Given the description of an element on the screen output the (x, y) to click on. 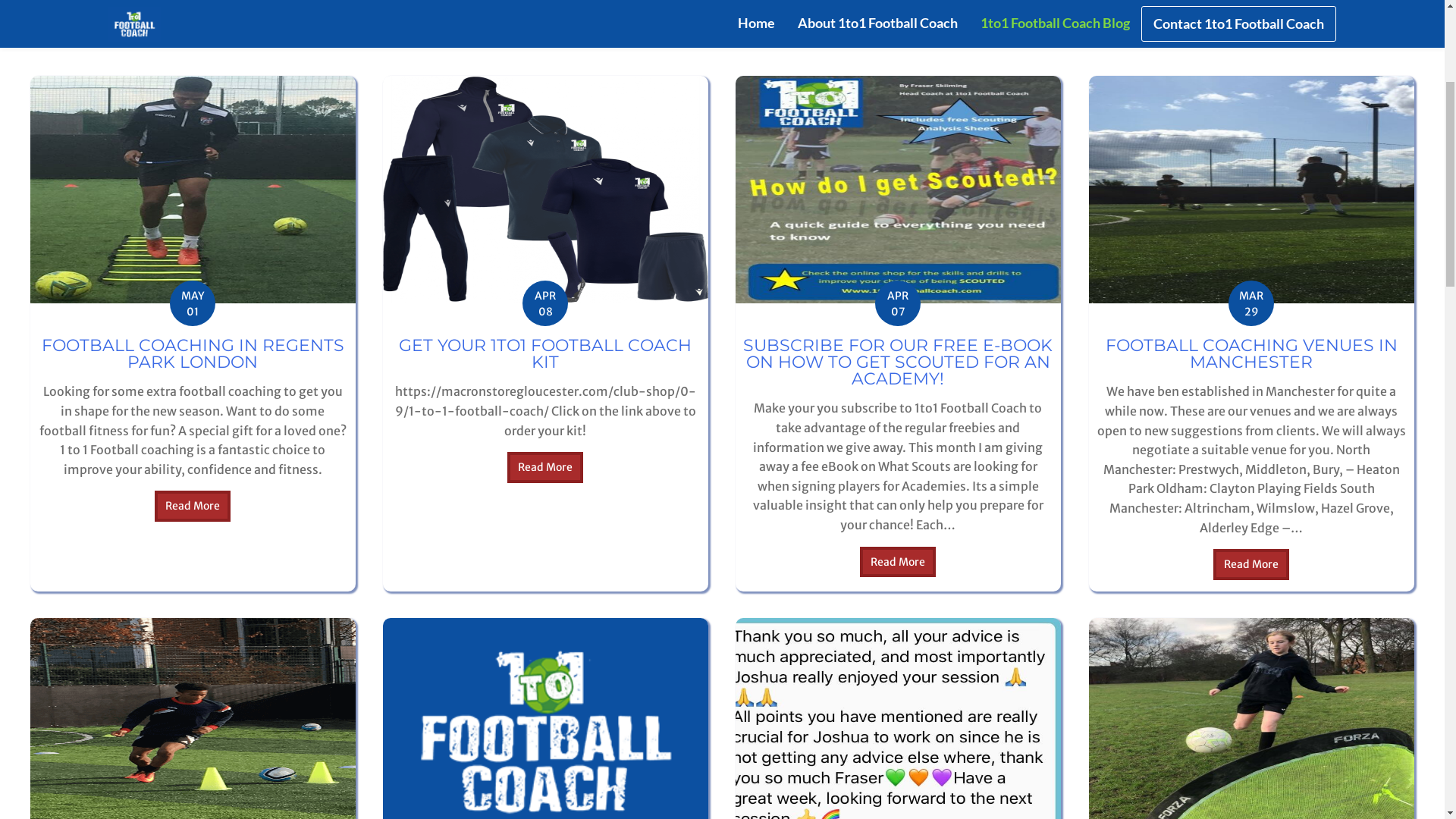
About 1to1 Football Coach Element type: text (877, 306)
FOOTBALL COACHING IN REGENTS PARK LONDON Element type: text (192, 636)
Home Element type: text (756, 85)
new kit Element type: hover (545, 472)
Home Element type: text (756, 306)
1to1 Football Coach Blog Element type: text (1055, 85)
sam Element type: hover (192, 472)
07789 958 769 Element type: text (859, 12)
scouted Element type: hover (897, 472)
Read More Element type: text (545, 750)
About 1to1 Football Coach Element type: text (877, 85)
GET YOUR 1TO1 FOOTBALL COACH KIT Element type: text (544, 636)
Contact 1to1 Football Coach Element type: text (1238, 307)
FOOTBALL COACHING VENUES IN MANCHESTER Element type: text (1251, 636)
me Element type: hover (1251, 472)
Contact 1to1 Football Coach Element type: text (1238, 85)
Read More Element type: text (192, 789)
1to1 Football Coach Blog Element type: text (1055, 306)
